Given the description of an element on the screen output the (x, y) to click on. 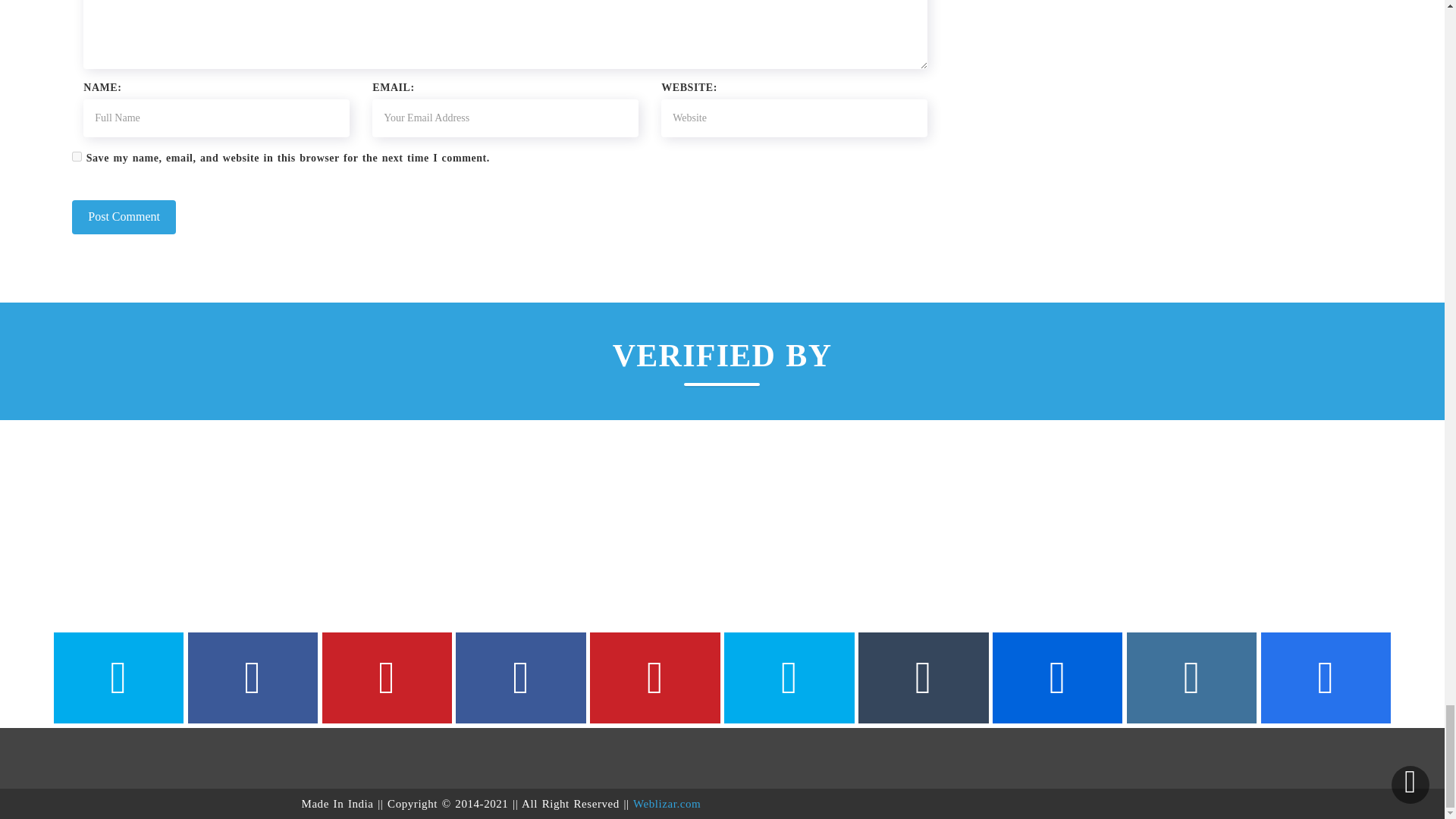
yes (76, 156)
Post Comment (123, 216)
